Given the description of an element on the screen output the (x, y) to click on. 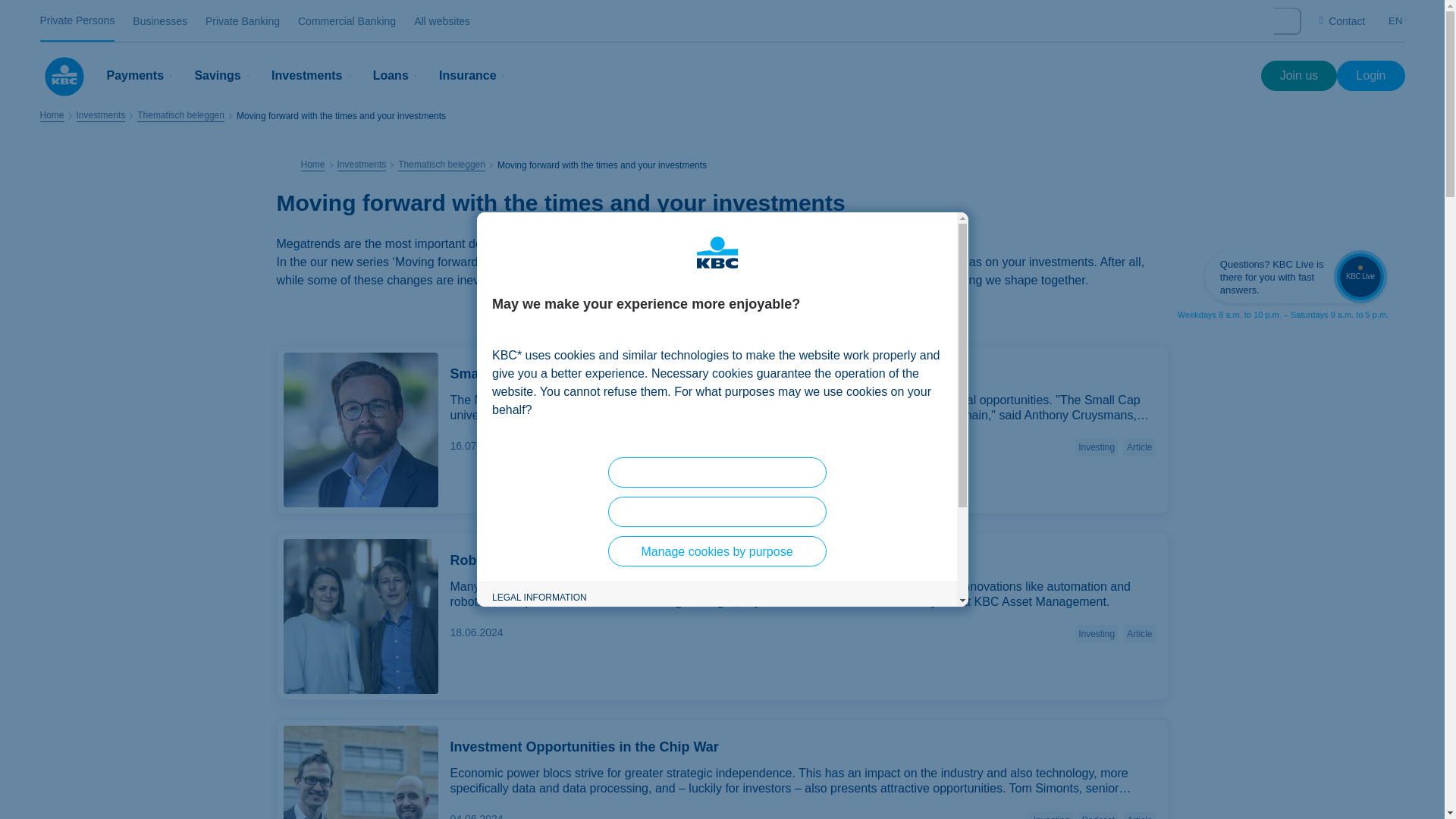
Private Banking (242, 20)
Payments (141, 75)
EN (1399, 20)
Contact (1342, 20)
Commercial Banking (347, 20)
KBC Particulieren (63, 76)
Savings (223, 75)
Businesses (159, 20)
Contact (1342, 20)
All websites (441, 20)
